Given the description of an element on the screen output the (x, y) to click on. 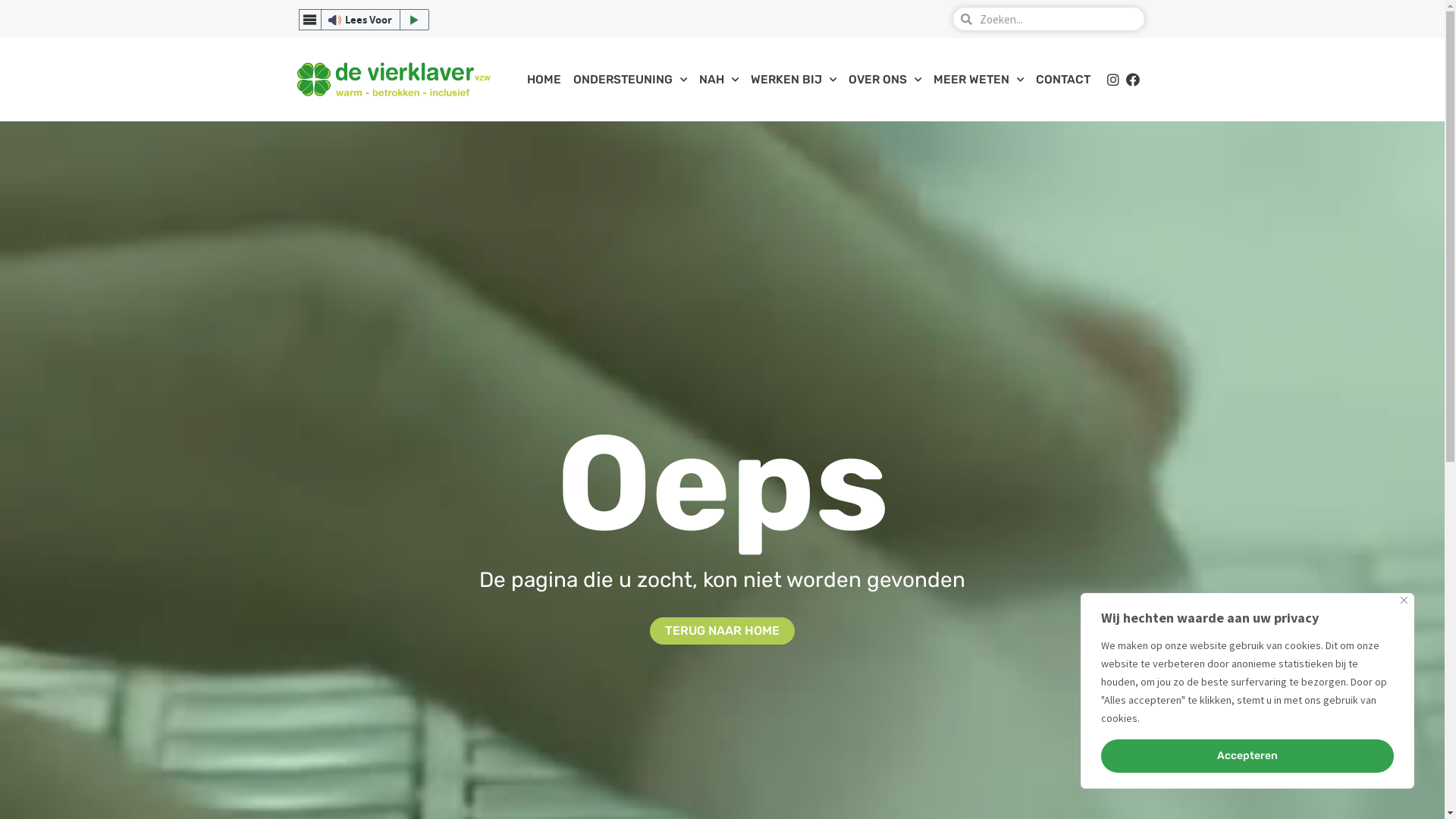
NAH Element type: text (718, 79)
WERKEN BIJ Element type: text (793, 79)
webReader menu Element type: hover (309, 19)
Lees Voor Element type: text (363, 19)
CONTACT Element type: text (1062, 79)
Accepteren Element type: text (1247, 755)
MEER WETEN Element type: text (978, 79)
ONDERSTEUNING Element type: text (630, 79)
HOME Element type: text (543, 79)
OVER ONS Element type: text (884, 79)
TERUG NAAR HOME Element type: text (721, 630)
